Given the description of an element on the screen output the (x, y) to click on. 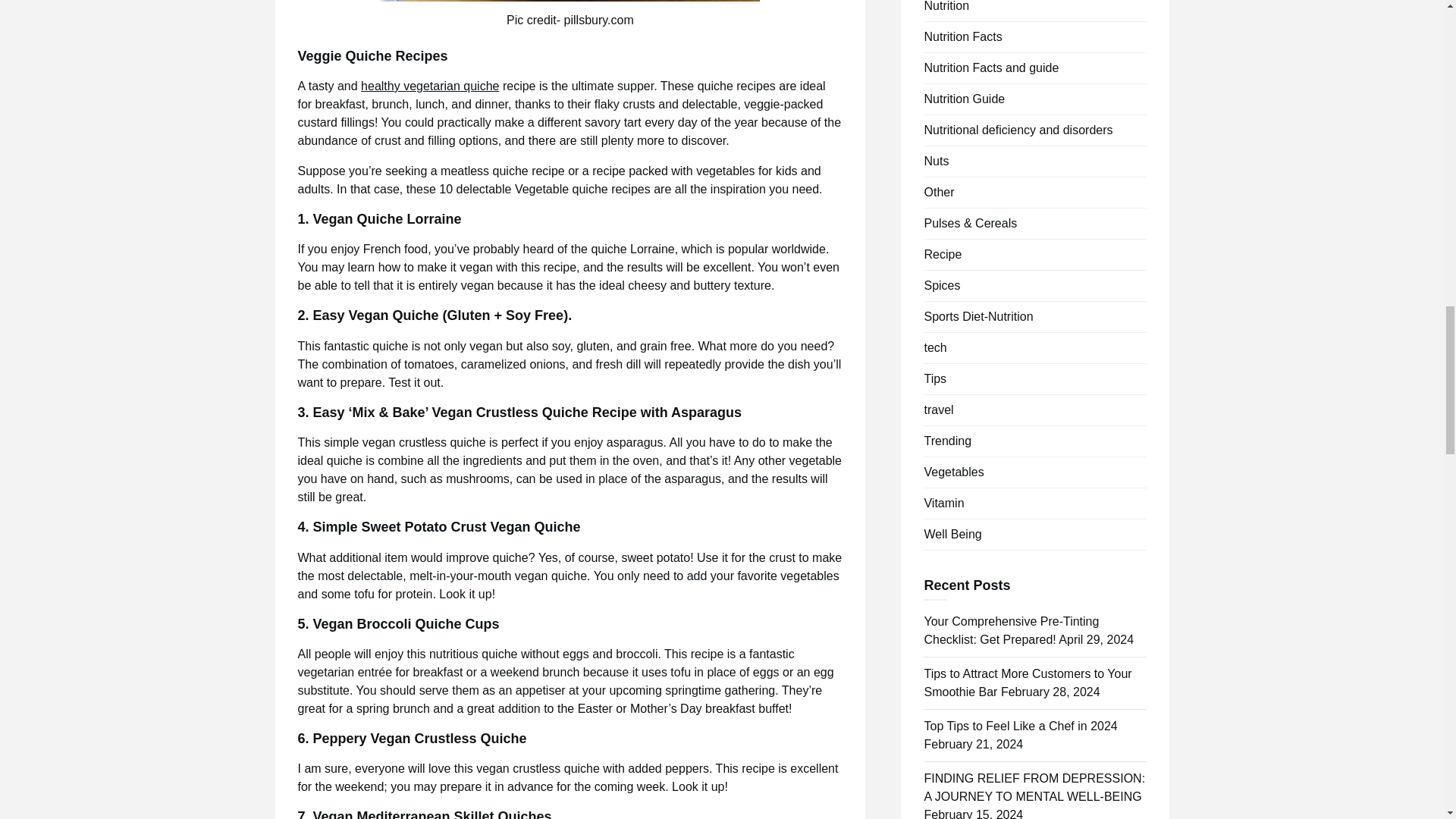
healthy vegetarian quiche (430, 85)
